Given the description of an element on the screen output the (x, y) to click on. 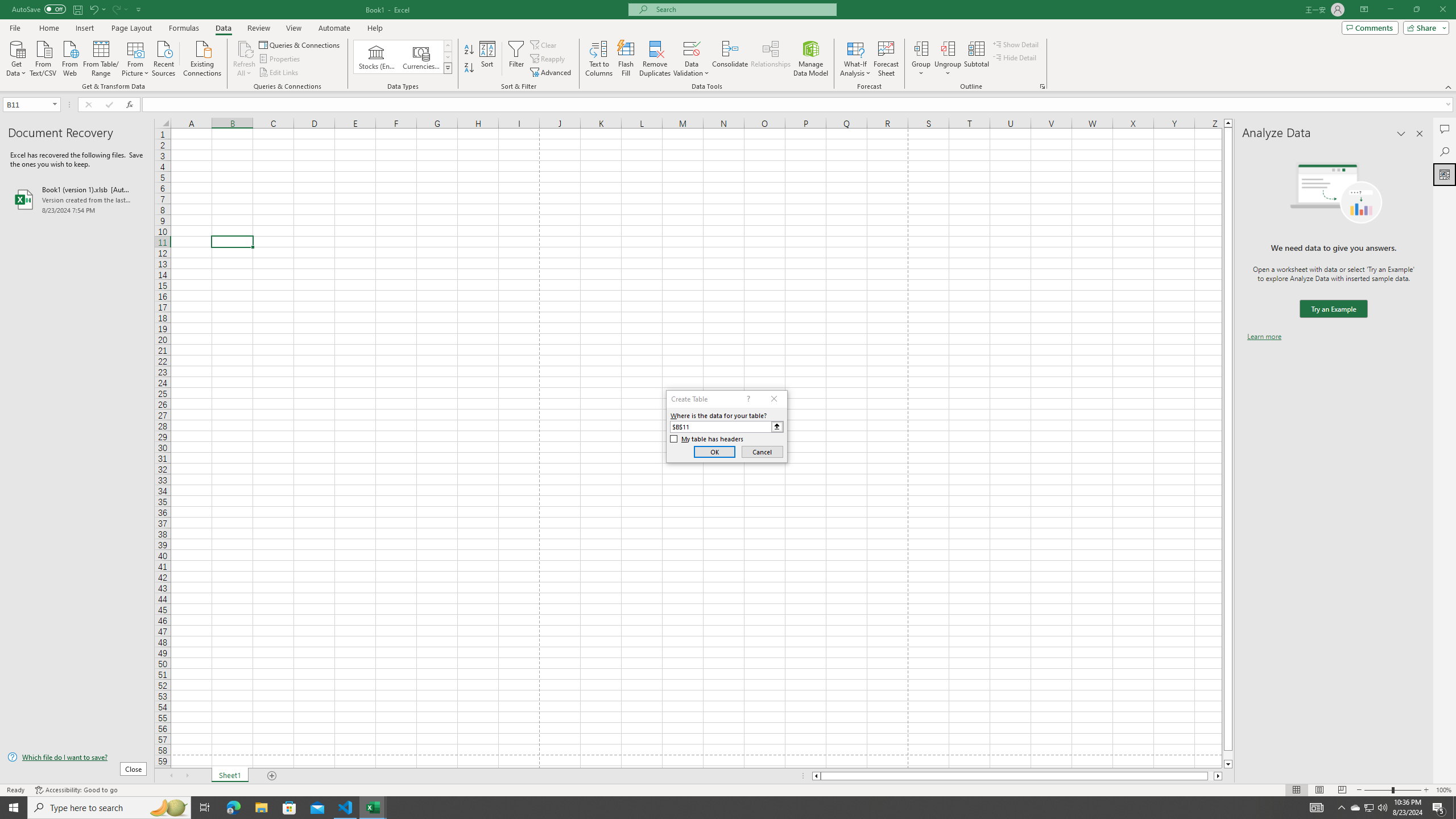
Stocks (English) (375, 56)
